Given the description of an element on the screen output the (x, y) to click on. 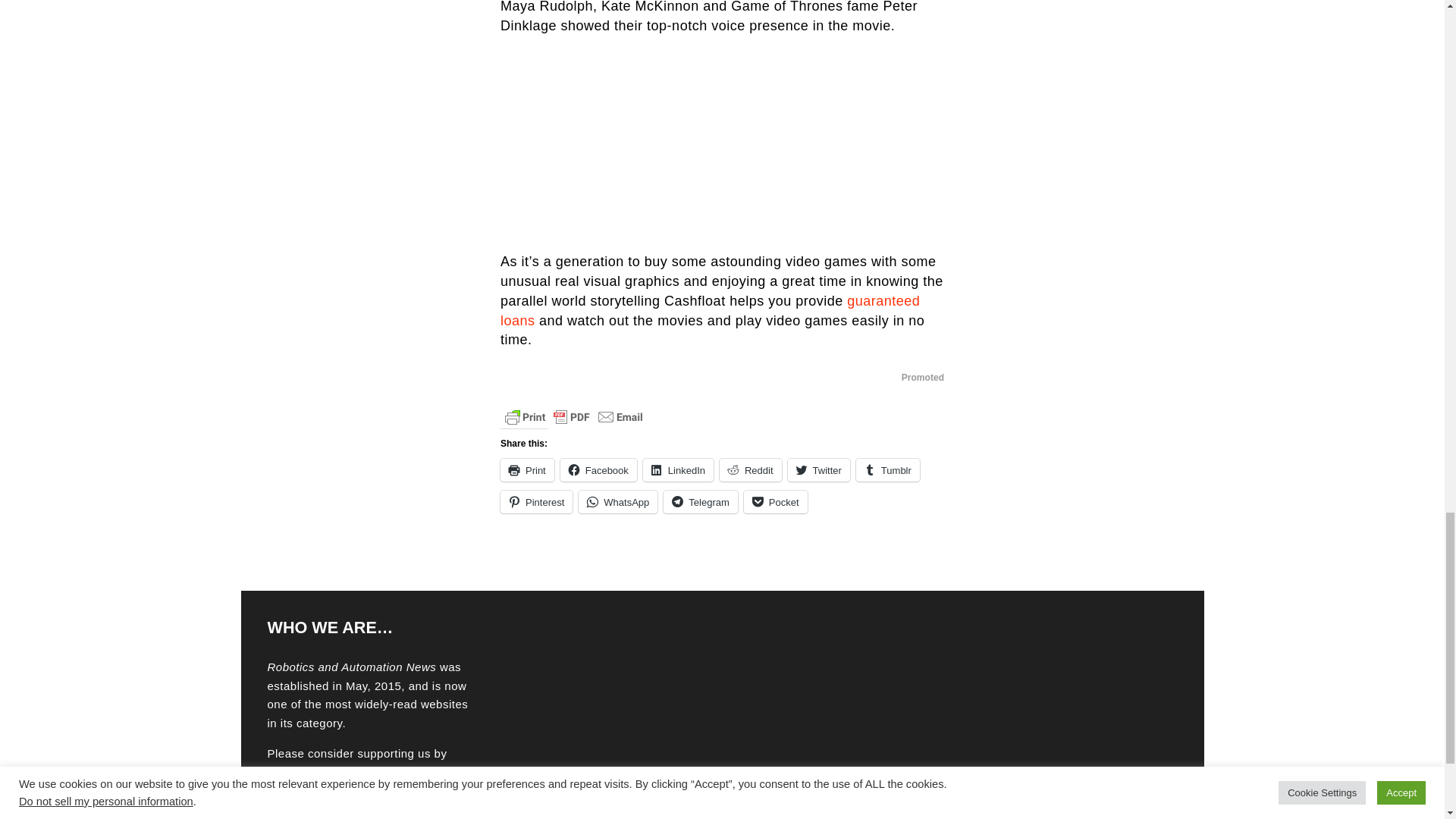
Click to share on Reddit (750, 469)
Click to share on Facebook (598, 469)
Click to share on Twitter (818, 469)
Click to share on Telegram (699, 501)
Click to print (527, 469)
Click to share on WhatsApp (618, 501)
Click to share on Tumblr (888, 469)
Advertisement (721, 144)
Click to share on Pocket (776, 501)
Click to share on LinkedIn (678, 469)
Click to share on Pinterest (536, 501)
